Given the description of an element on the screen output the (x, y) to click on. 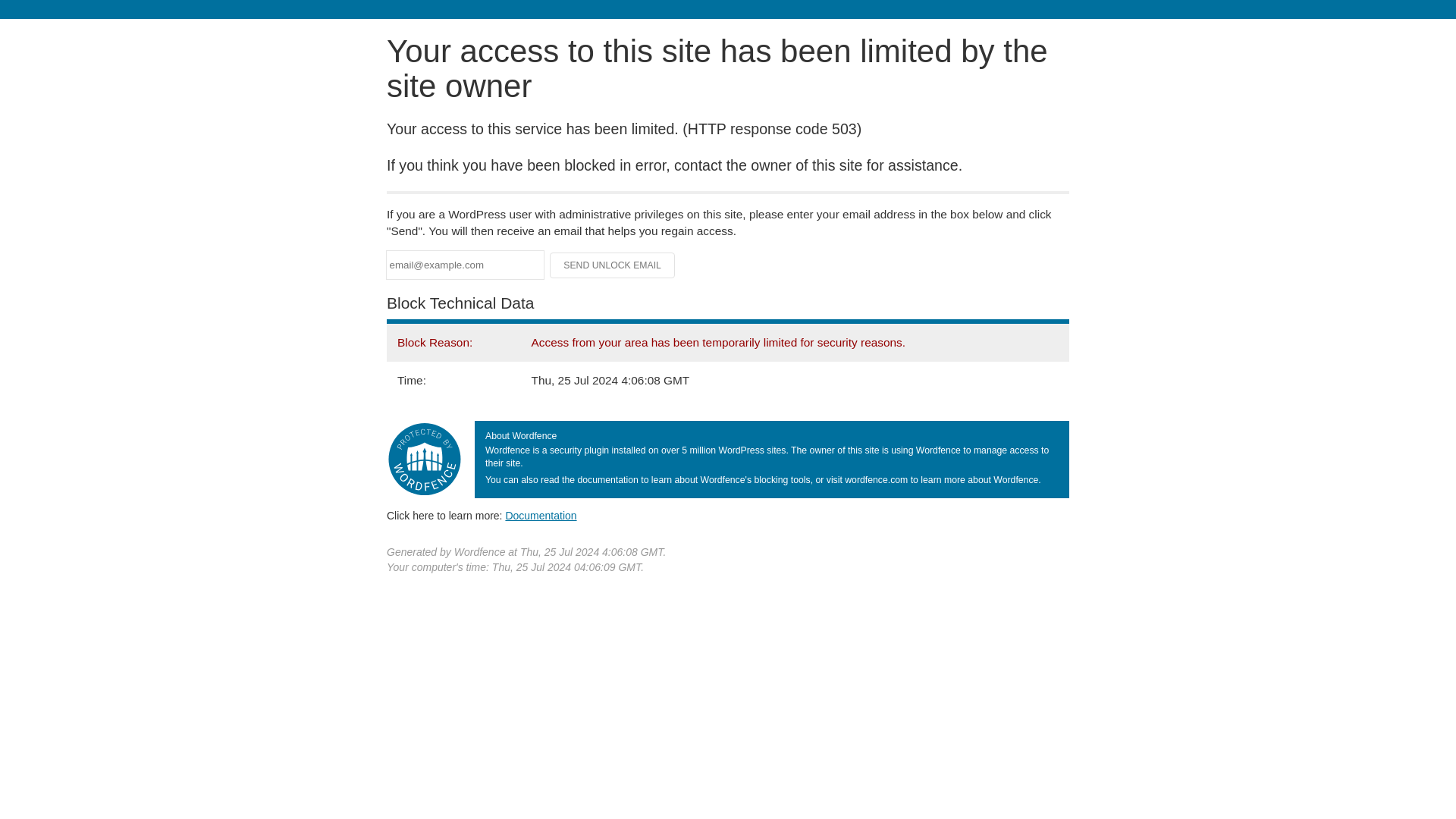
Send Unlock Email (612, 265)
Documentation (540, 515)
Send Unlock Email (612, 265)
